Given the description of an element on the screen output the (x, y) to click on. 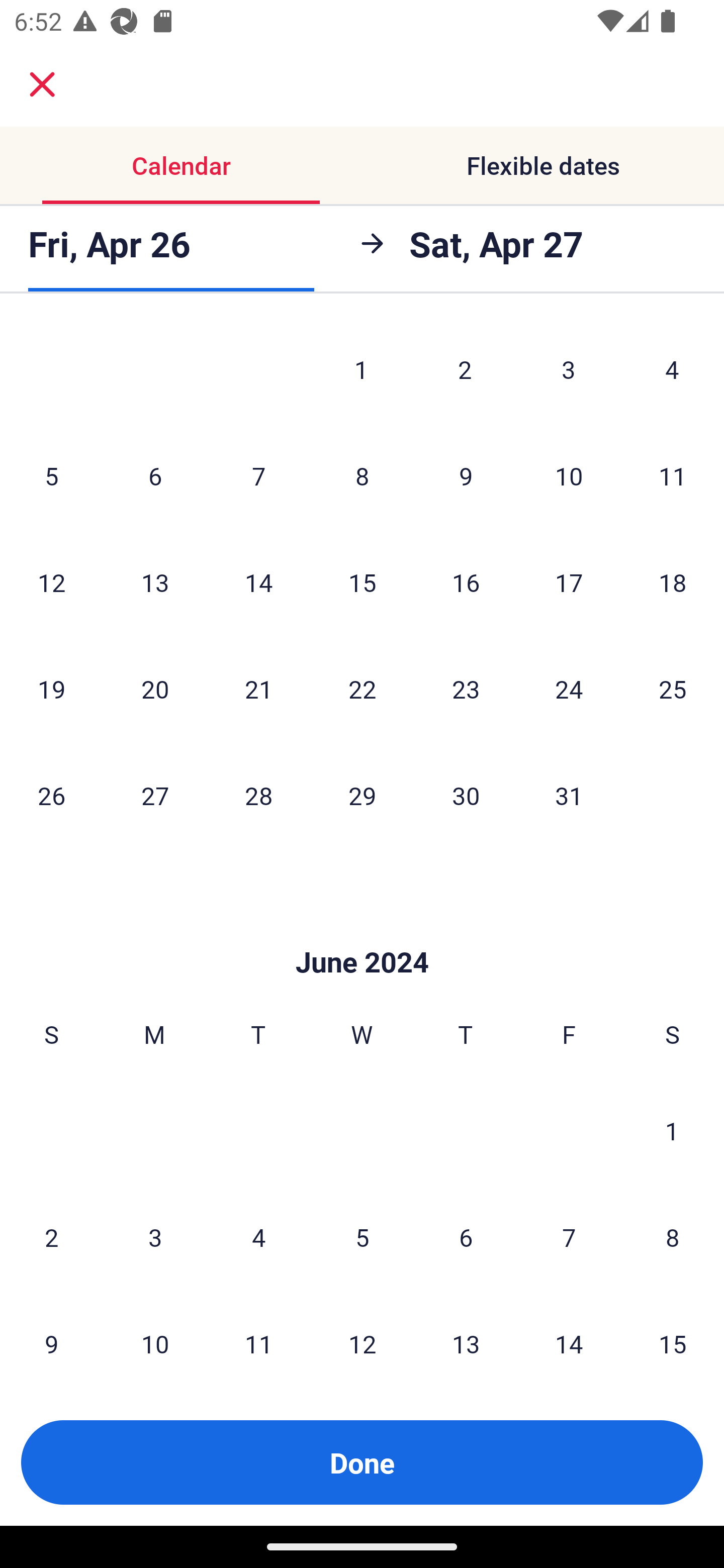
close. (42, 84)
Flexible dates (542, 164)
1 Wednesday, May 1, 2024 (361, 370)
2 Thursday, May 2, 2024 (464, 370)
3 Friday, May 3, 2024 (568, 370)
4 Saturday, May 4, 2024 (672, 370)
5 Sunday, May 5, 2024 (51, 475)
6 Monday, May 6, 2024 (155, 475)
7 Tuesday, May 7, 2024 (258, 475)
8 Wednesday, May 8, 2024 (362, 475)
9 Thursday, May 9, 2024 (465, 475)
10 Friday, May 10, 2024 (569, 475)
11 Saturday, May 11, 2024 (672, 475)
12 Sunday, May 12, 2024 (51, 581)
13 Monday, May 13, 2024 (155, 581)
14 Tuesday, May 14, 2024 (258, 581)
15 Wednesday, May 15, 2024 (362, 581)
16 Thursday, May 16, 2024 (465, 581)
17 Friday, May 17, 2024 (569, 581)
18 Saturday, May 18, 2024 (672, 581)
19 Sunday, May 19, 2024 (51, 688)
20 Monday, May 20, 2024 (155, 688)
21 Tuesday, May 21, 2024 (258, 688)
22 Wednesday, May 22, 2024 (362, 688)
23 Thursday, May 23, 2024 (465, 688)
24 Friday, May 24, 2024 (569, 688)
25 Saturday, May 25, 2024 (672, 688)
26 Sunday, May 26, 2024 (51, 794)
27 Monday, May 27, 2024 (155, 794)
28 Tuesday, May 28, 2024 (258, 794)
29 Wednesday, May 29, 2024 (362, 794)
30 Thursday, May 30, 2024 (465, 794)
31 Friday, May 31, 2024 (569, 794)
Skip to Done (362, 931)
1 Saturday, June 1, 2024 (672, 1130)
2 Sunday, June 2, 2024 (51, 1236)
3 Monday, June 3, 2024 (155, 1236)
4 Tuesday, June 4, 2024 (258, 1236)
5 Wednesday, June 5, 2024 (362, 1236)
6 Thursday, June 6, 2024 (465, 1236)
7 Friday, June 7, 2024 (569, 1236)
8 Saturday, June 8, 2024 (672, 1236)
9 Sunday, June 9, 2024 (51, 1335)
10 Monday, June 10, 2024 (155, 1335)
11 Tuesday, June 11, 2024 (258, 1335)
12 Wednesday, June 12, 2024 (362, 1335)
13 Thursday, June 13, 2024 (465, 1335)
14 Friday, June 14, 2024 (569, 1335)
15 Saturday, June 15, 2024 (672, 1335)
Done (361, 1462)
